Given the description of an element on the screen output the (x, y) to click on. 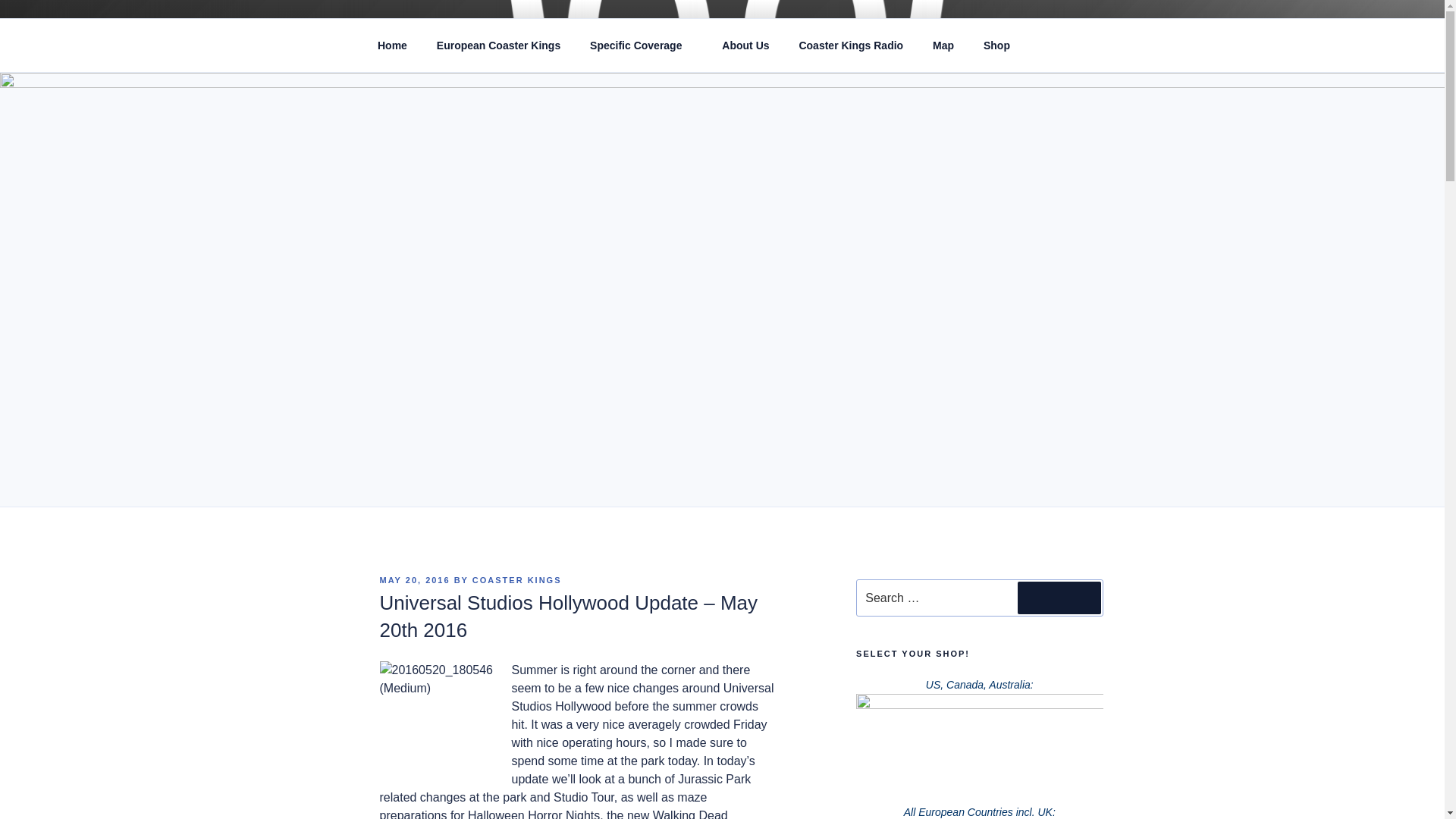
About Us (746, 45)
Map (944, 45)
Search (1058, 597)
European Coaster Kings (498, 45)
Specific Coverage (641, 45)
COASTER KINGS (506, 52)
COASTER KINGS (516, 579)
Shop (1001, 45)
MAY 20, 2016 (413, 579)
Coaster Kings Radio (851, 45)
